Given the description of an element on the screen output the (x, y) to click on. 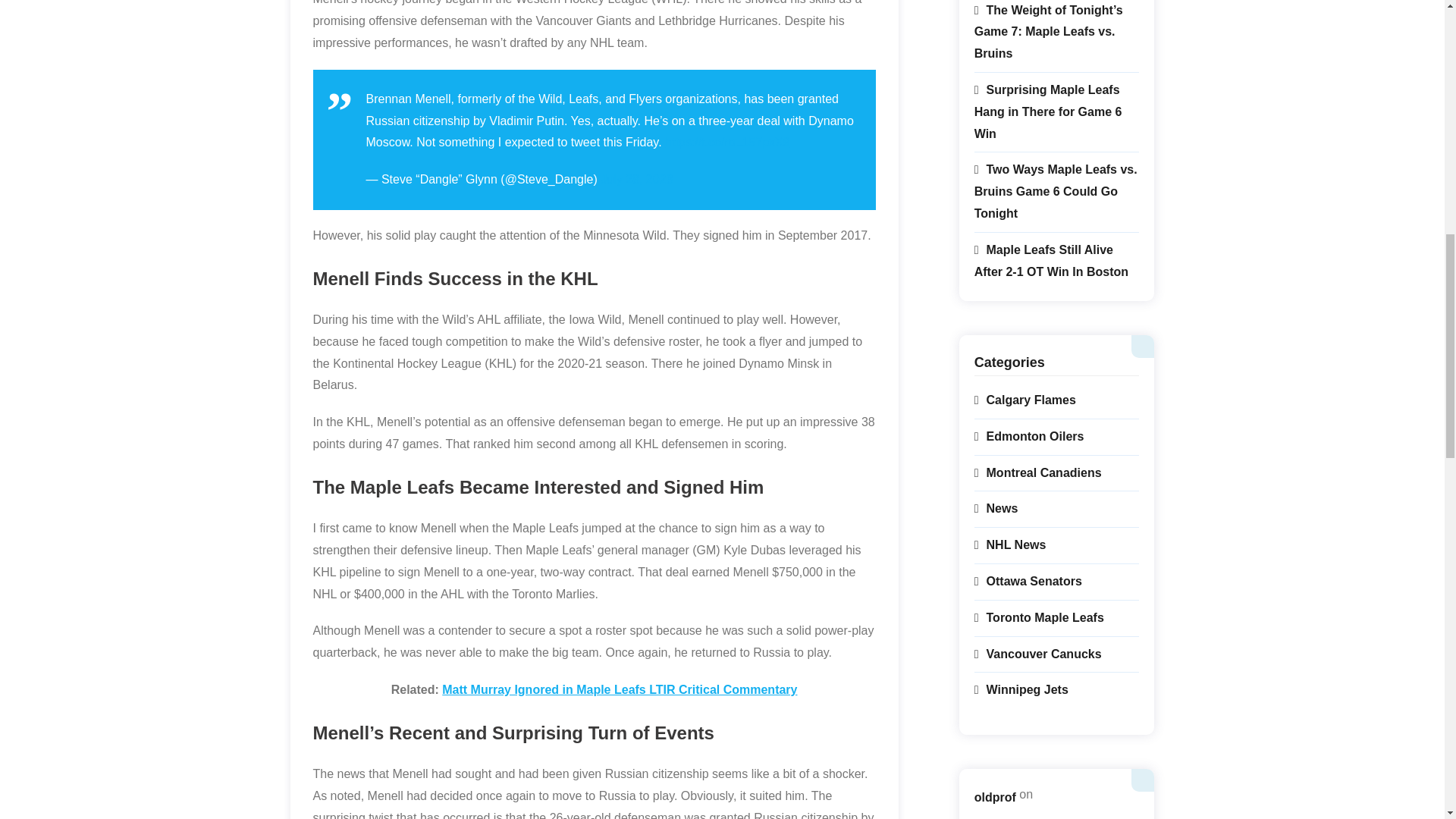
Matt Murray Ignored in Maple Leafs LTIR Critical Commentary (619, 689)
Maple Leafs Still Alive After 2-1 OT Win In Boston (1057, 261)
July 28, 2023 (635, 178)
Surprising Maple Leafs Hang in There for Game 6 Win (1057, 112)
Calgary Flames (1024, 400)
Edmonton Oilers (1029, 437)
Two Ways Maple Leafs vs. Bruins Game 6 Could Go Tonight (1057, 191)
